Given the description of an element on the screen output the (x, y) to click on. 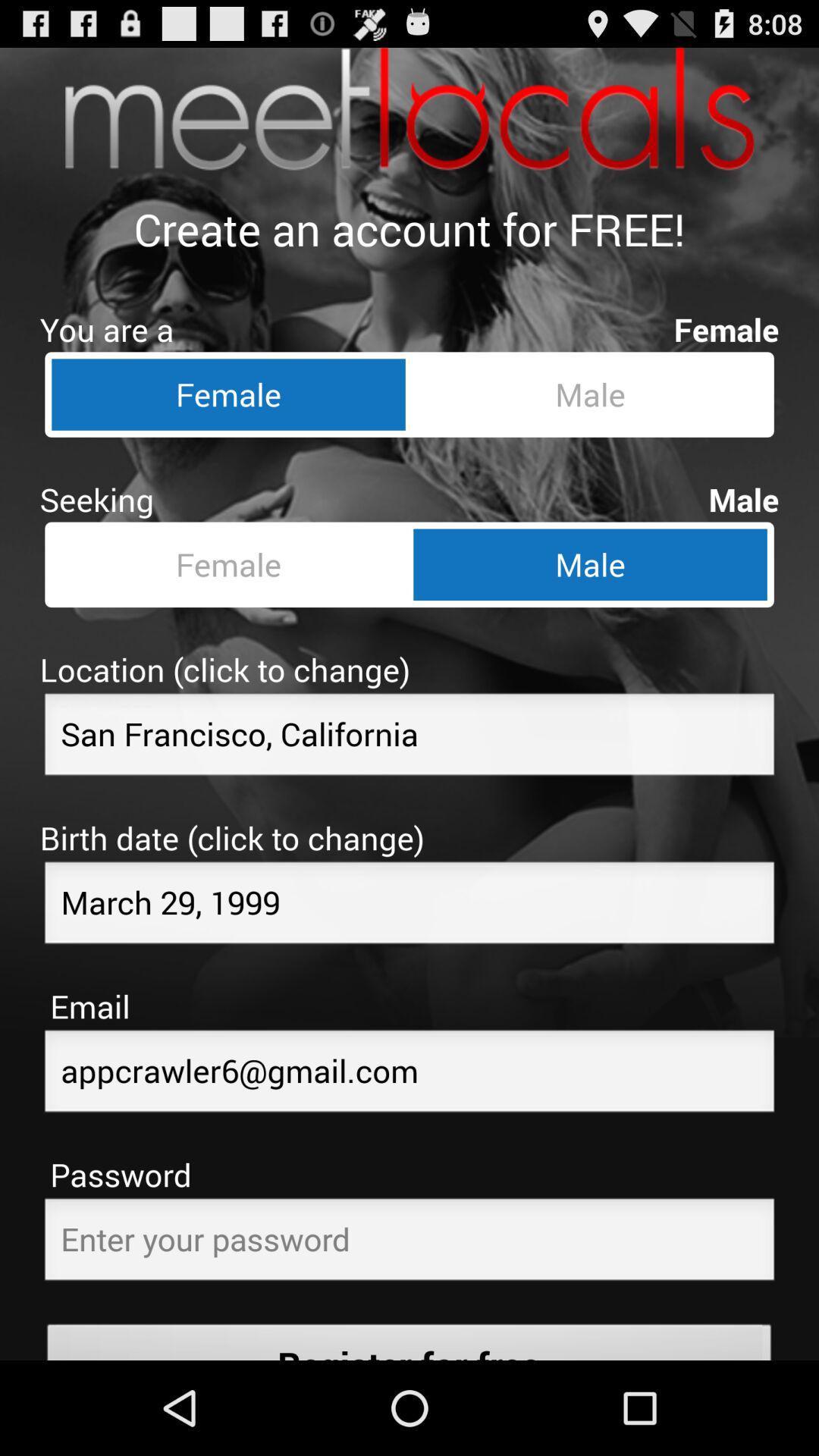
enter your password (409, 1243)
